Given the description of an element on the screen output the (x, y) to click on. 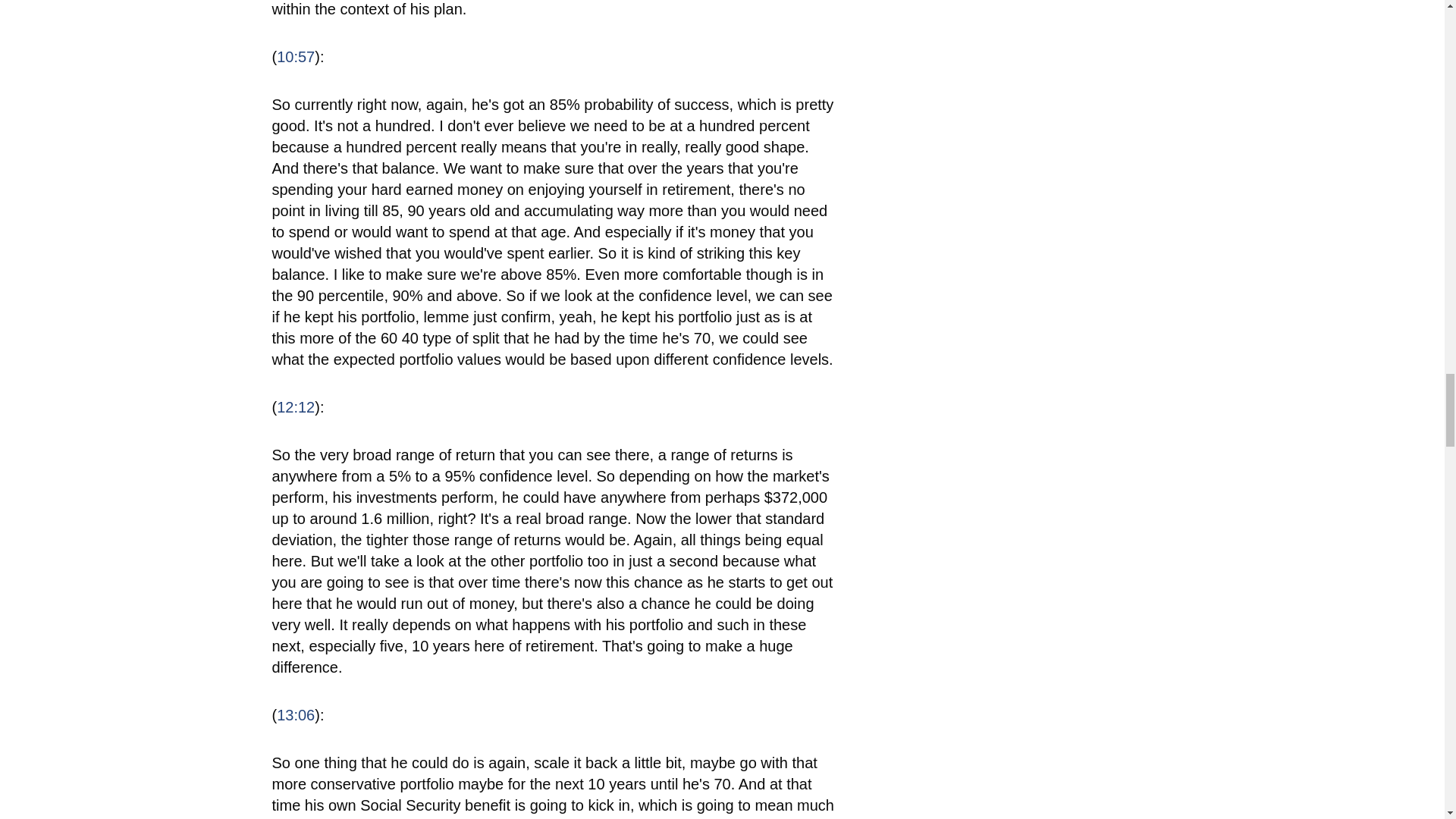
10:57 (295, 56)
12:12 (295, 406)
13:06 (295, 714)
